Given the description of an element on the screen output the (x, y) to click on. 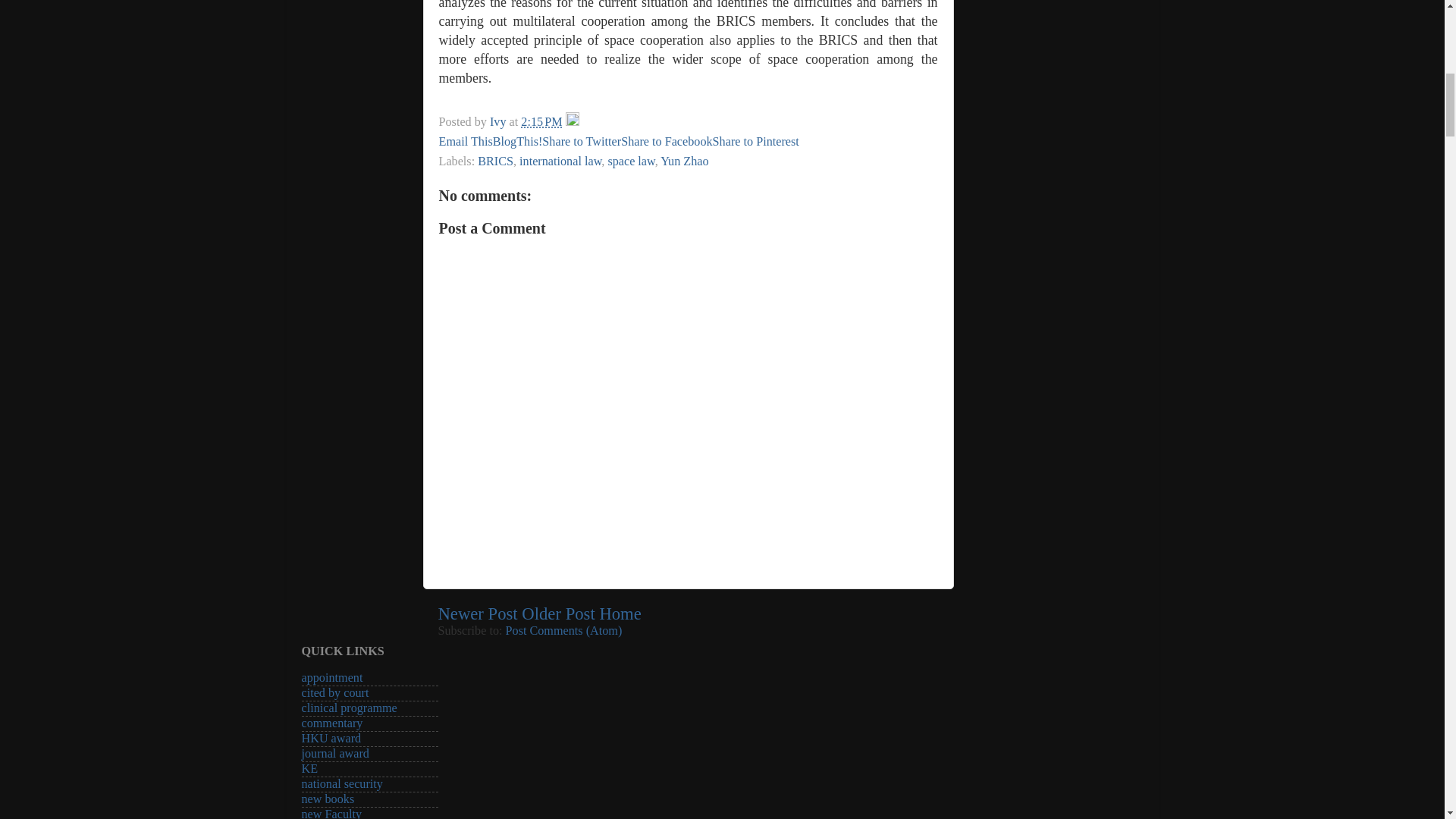
cited by court (335, 693)
national security (341, 784)
Older Post (557, 613)
space law (630, 161)
Share to Facebook (666, 141)
journal award (335, 753)
Share to Facebook (666, 141)
permanent link (541, 121)
Home (619, 613)
Share to Twitter (581, 141)
new books (328, 798)
Newer Post (478, 613)
author profile (499, 121)
BlogThis! (518, 141)
Email This (465, 141)
